Given the description of an element on the screen output the (x, y) to click on. 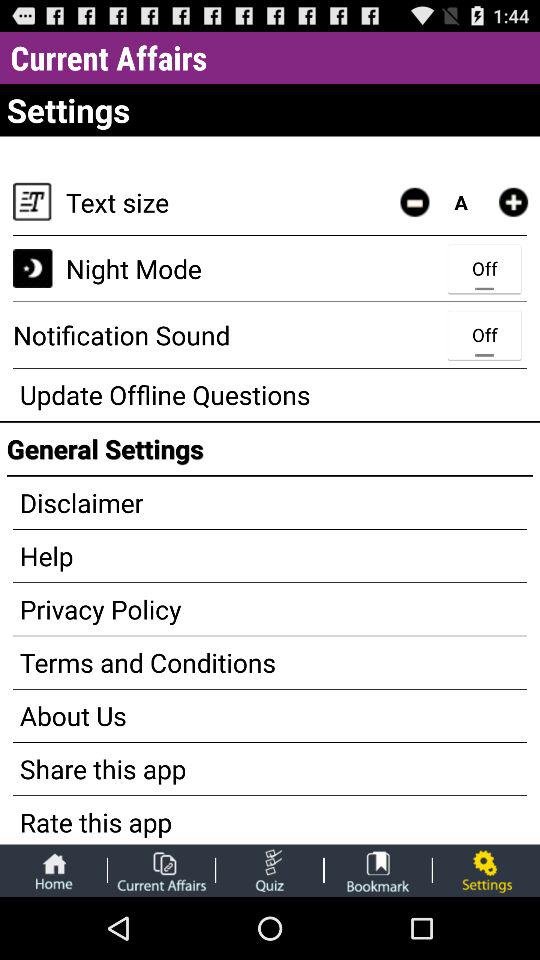
flip to about us app (270, 715)
